Given the description of an element on the screen output the (x, y) to click on. 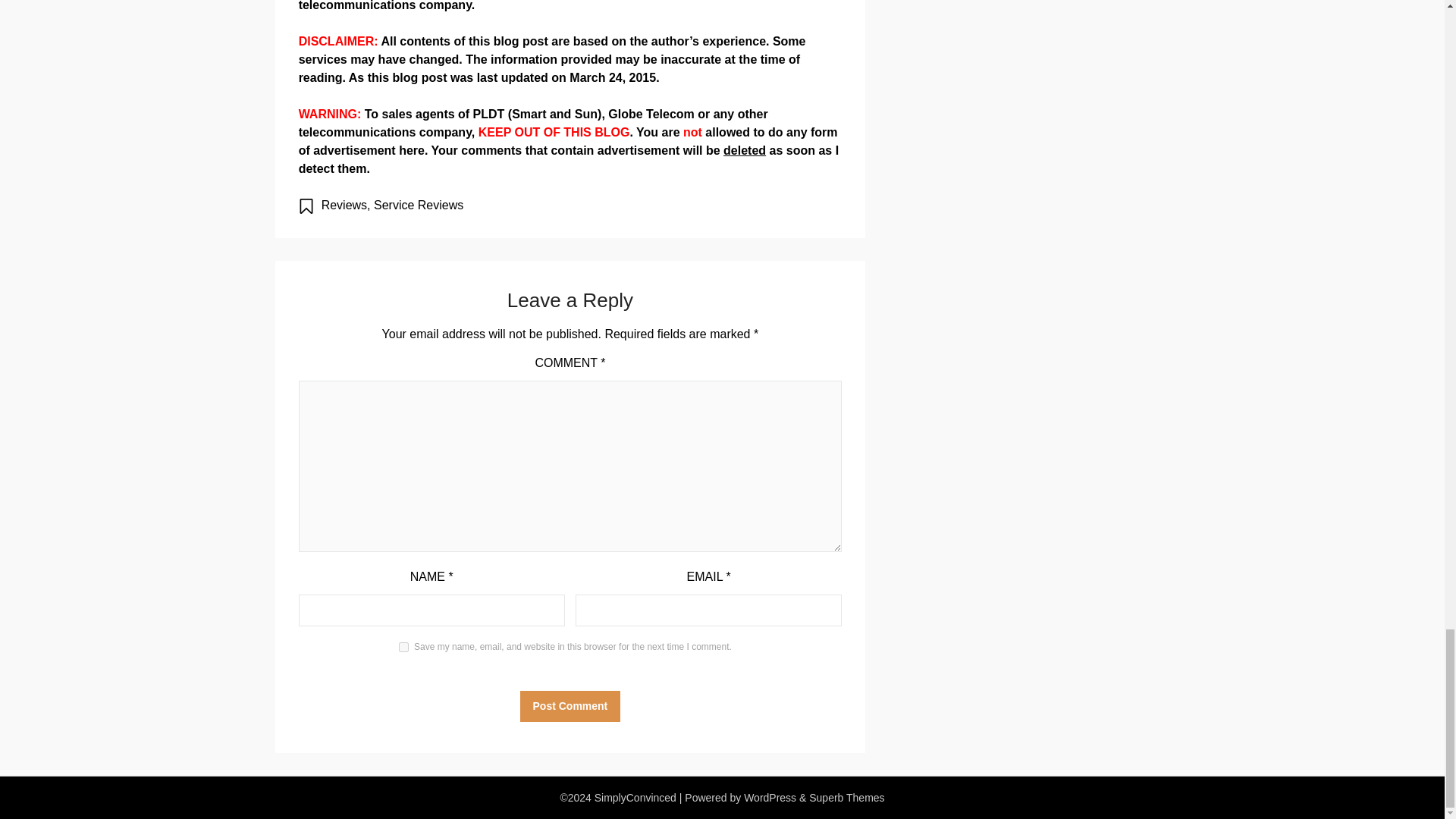
Superb Themes (846, 797)
WordPress (770, 797)
Post Comment (570, 706)
Reviews (343, 205)
Post Comment (570, 706)
yes (403, 646)
Service Reviews (418, 205)
